Given the description of an element on the screen output the (x, y) to click on. 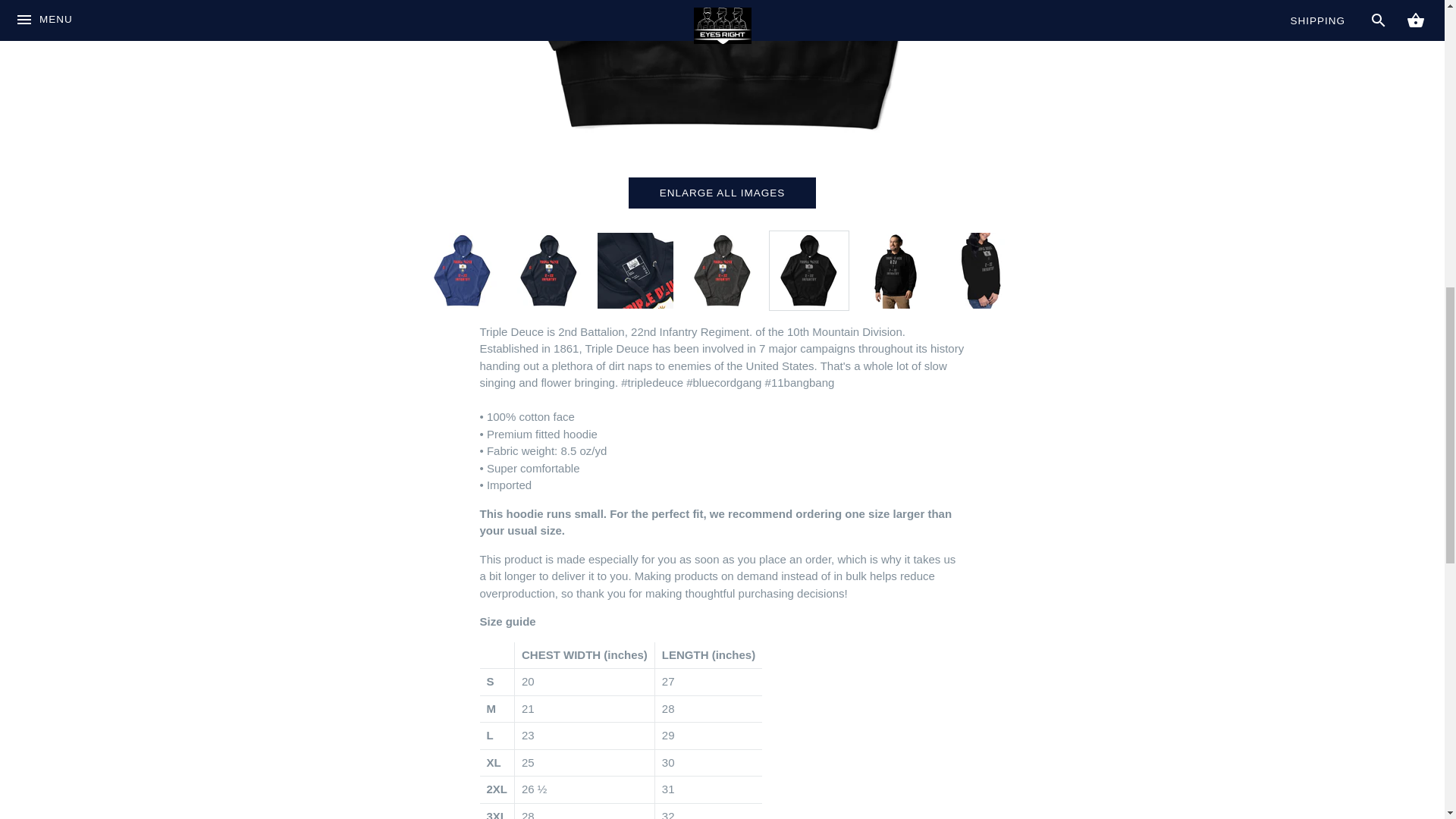
Triple Deuce Hoodie (808, 270)
UP (1140, 36)
